Given the description of an element on the screen output the (x, y) to click on. 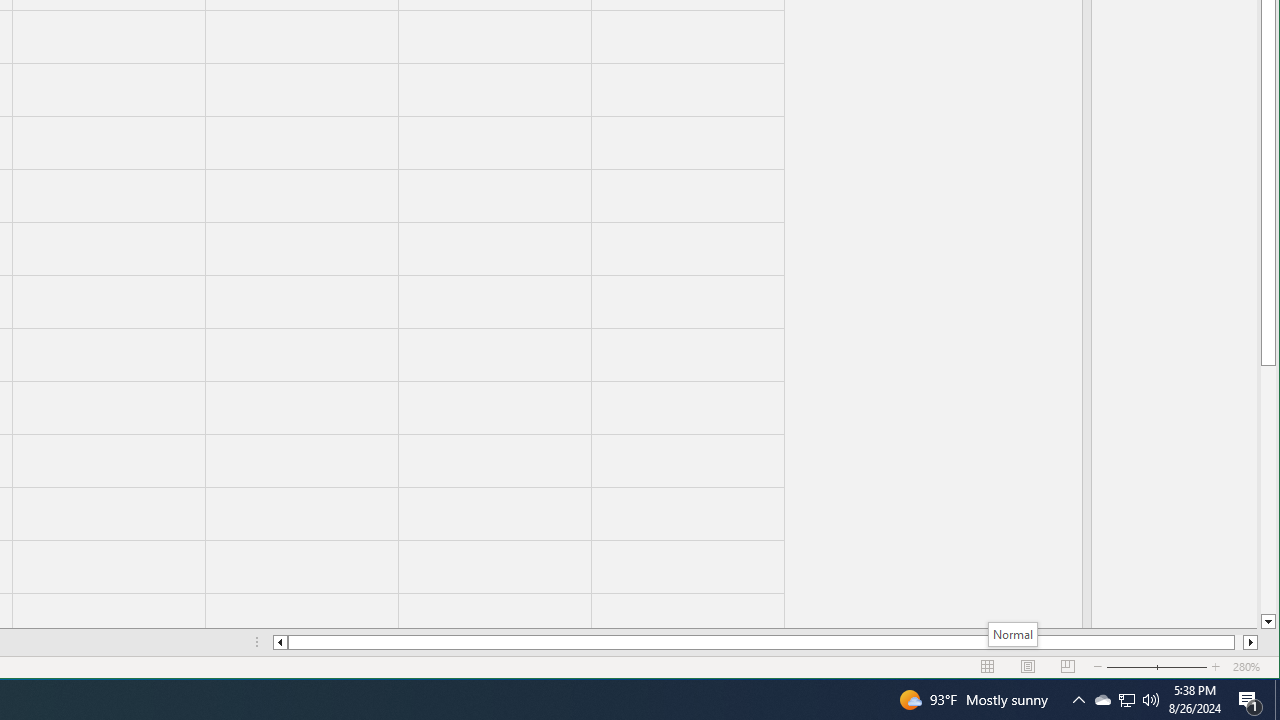
Notification Chevron (1078, 699)
Show desktop (1277, 699)
Page Break Preview (1126, 699)
Zoom Out (1068, 667)
Page right (1144, 667)
